Given the description of an element on the screen output the (x, y) to click on. 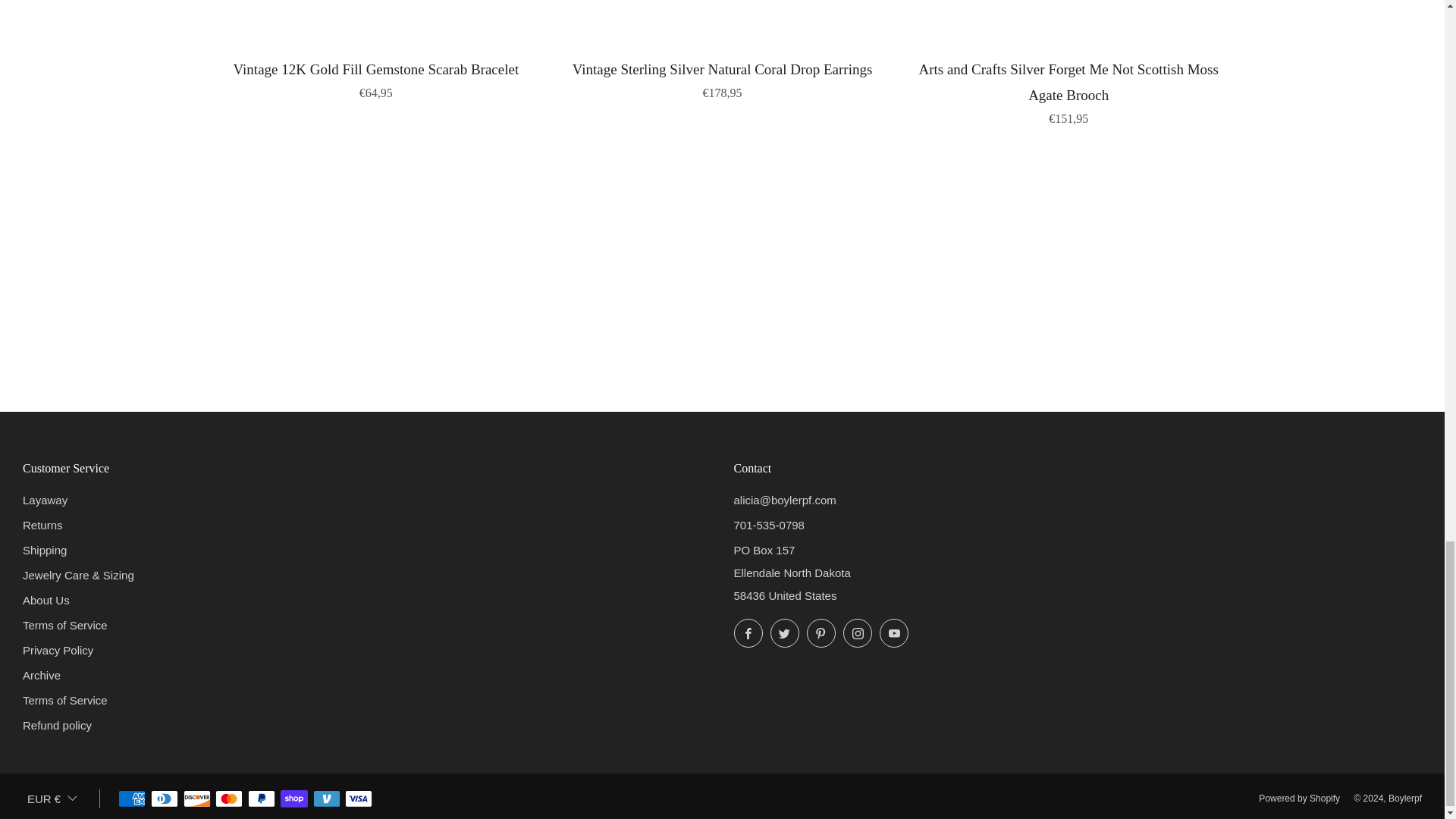
Vintage Sterling Silver Natural Coral Drop Earrings (721, 77)
Vintage 12K Gold Fill Gemstone Scarab Bracelet (376, 77)
